Given the description of an element on the screen output the (x, y) to click on. 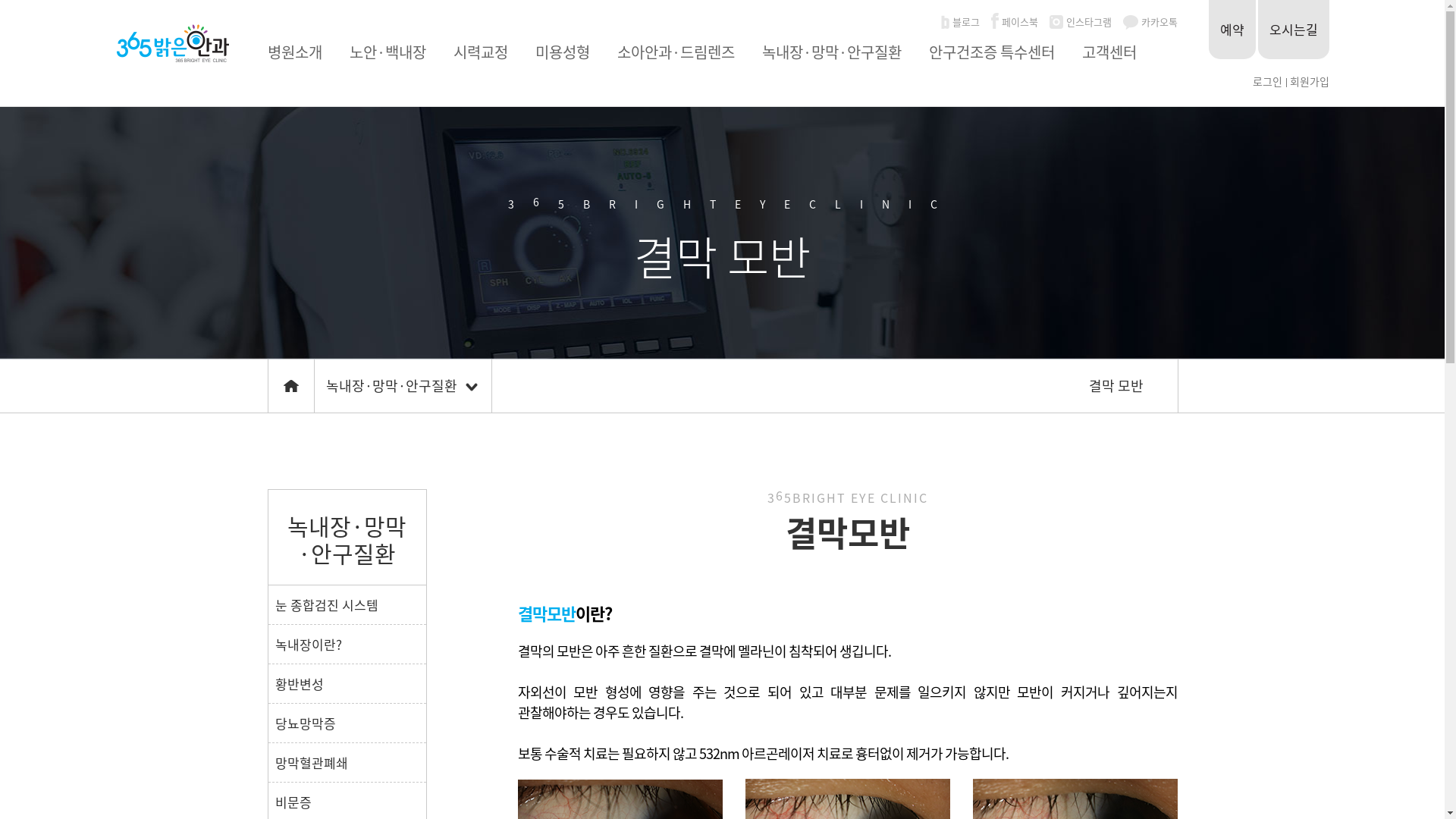
0 Element type: text (291, 385)
